Given the description of an element on the screen output the (x, y) to click on. 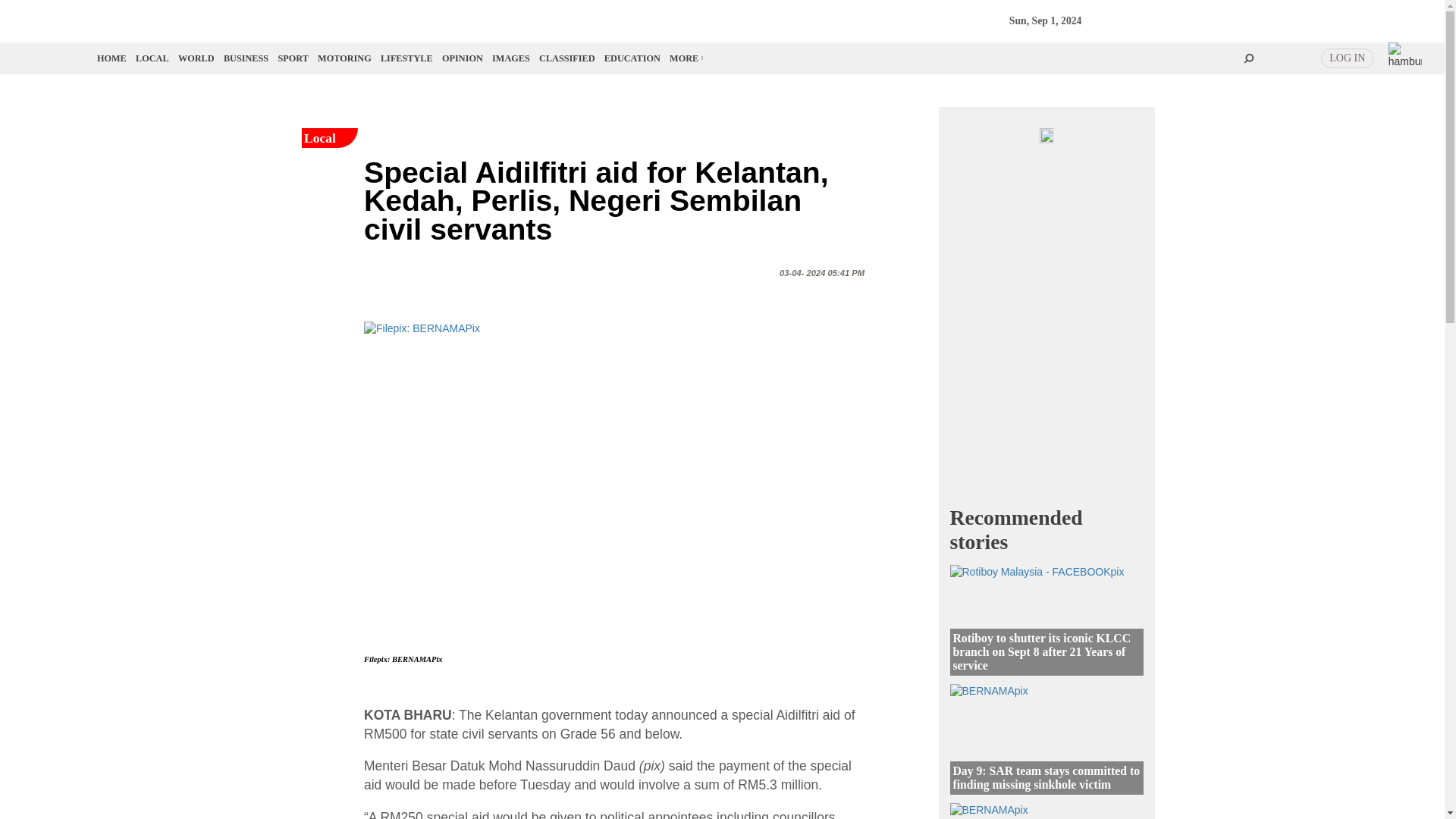
MORE (685, 57)
World (195, 57)
WORLD (195, 57)
IMAGES (510, 57)
OPINION (462, 57)
EDUCATION (632, 57)
LOG IN (1347, 57)
MOTORING (344, 57)
HOME (111, 57)
Business (245, 57)
